Given the description of an element on the screen output the (x, y) to click on. 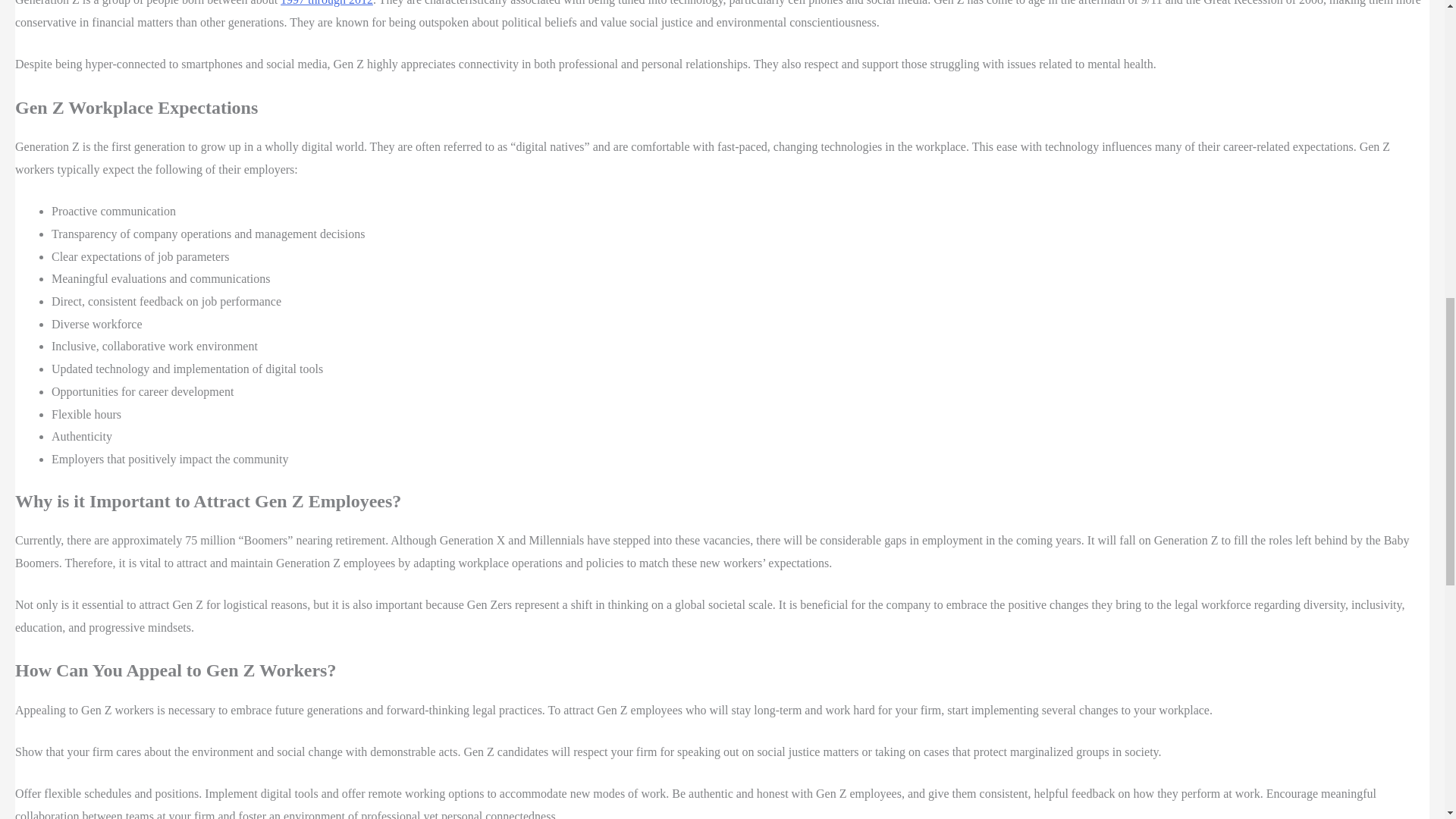
1997 through 2012 (326, 2)
